Given the description of an element on the screen output the (x, y) to click on. 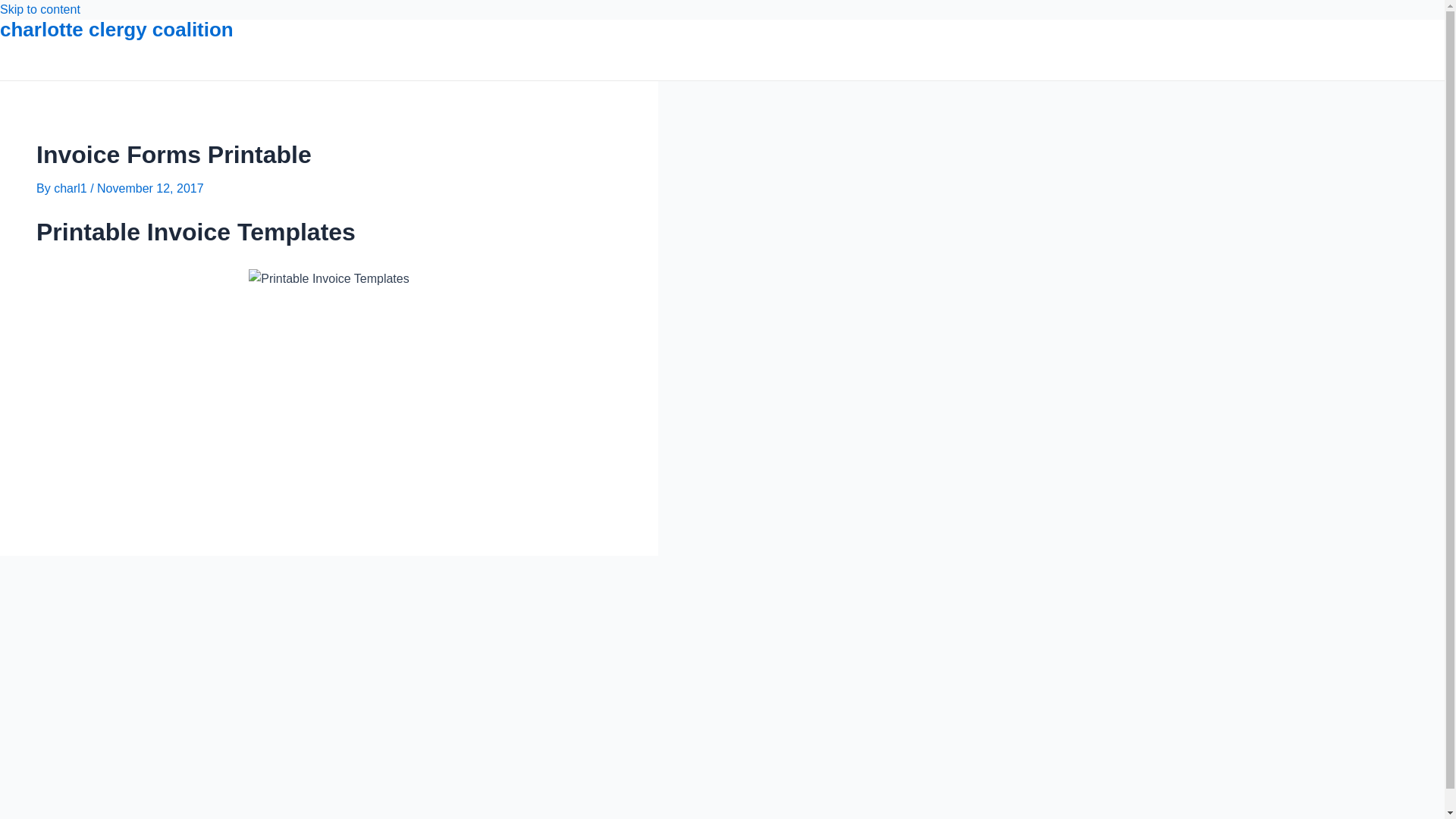
Skip to content (40, 9)
View all posts by charl1 (71, 187)
charlotte clergy coalition (116, 29)
Printable Invoice Templates (328, 279)
charl1 (71, 187)
Skip to content (40, 9)
